Given the description of an element on the screen output the (x, y) to click on. 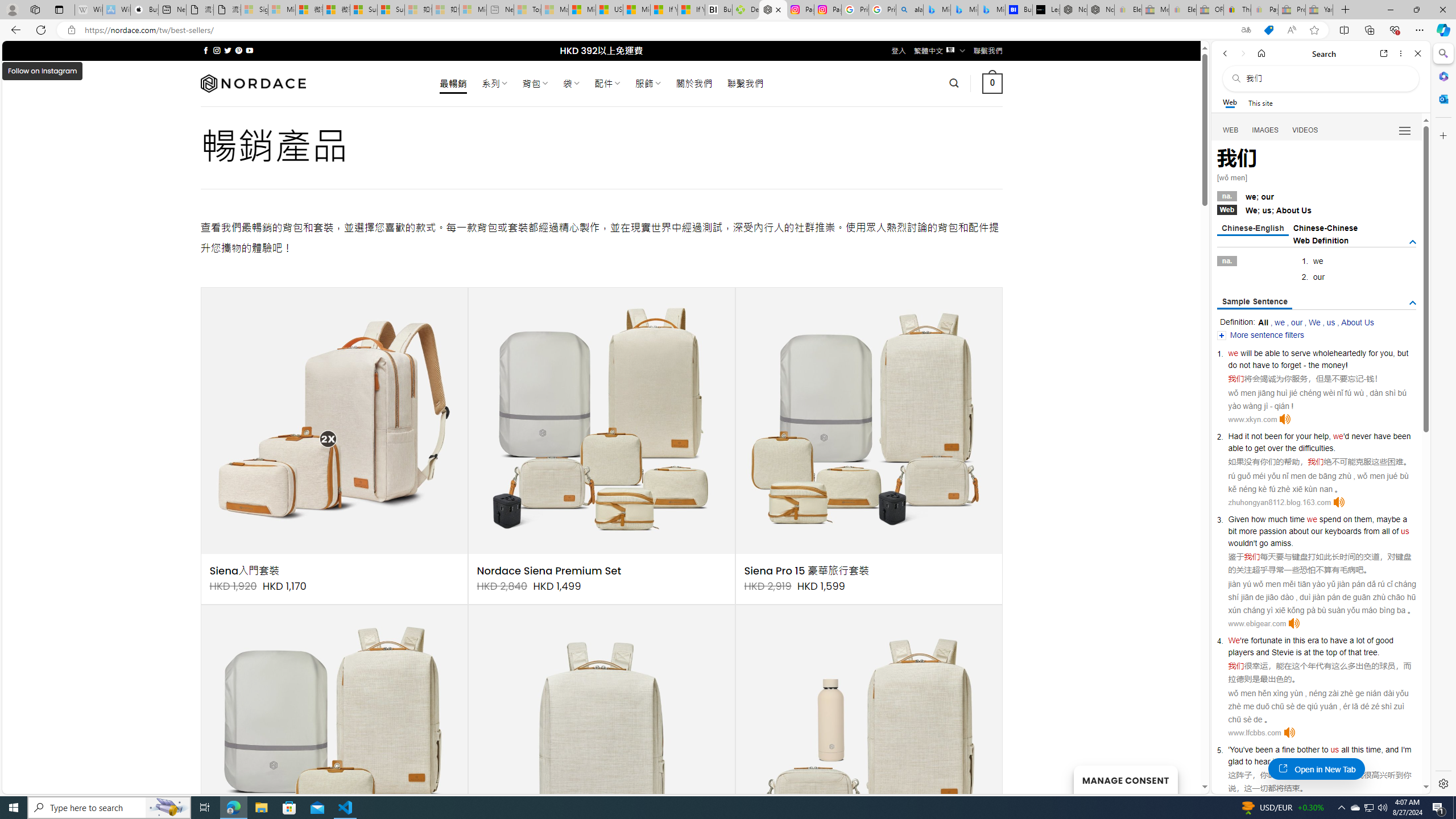
a (1277, 749)
wholeheartedly (1340, 352)
'm (1407, 749)
from (1371, 530)
MANAGE CONSENT (1125, 779)
www.ebigear.com (1257, 623)
